Given the description of an element on the screen output the (x, y) to click on. 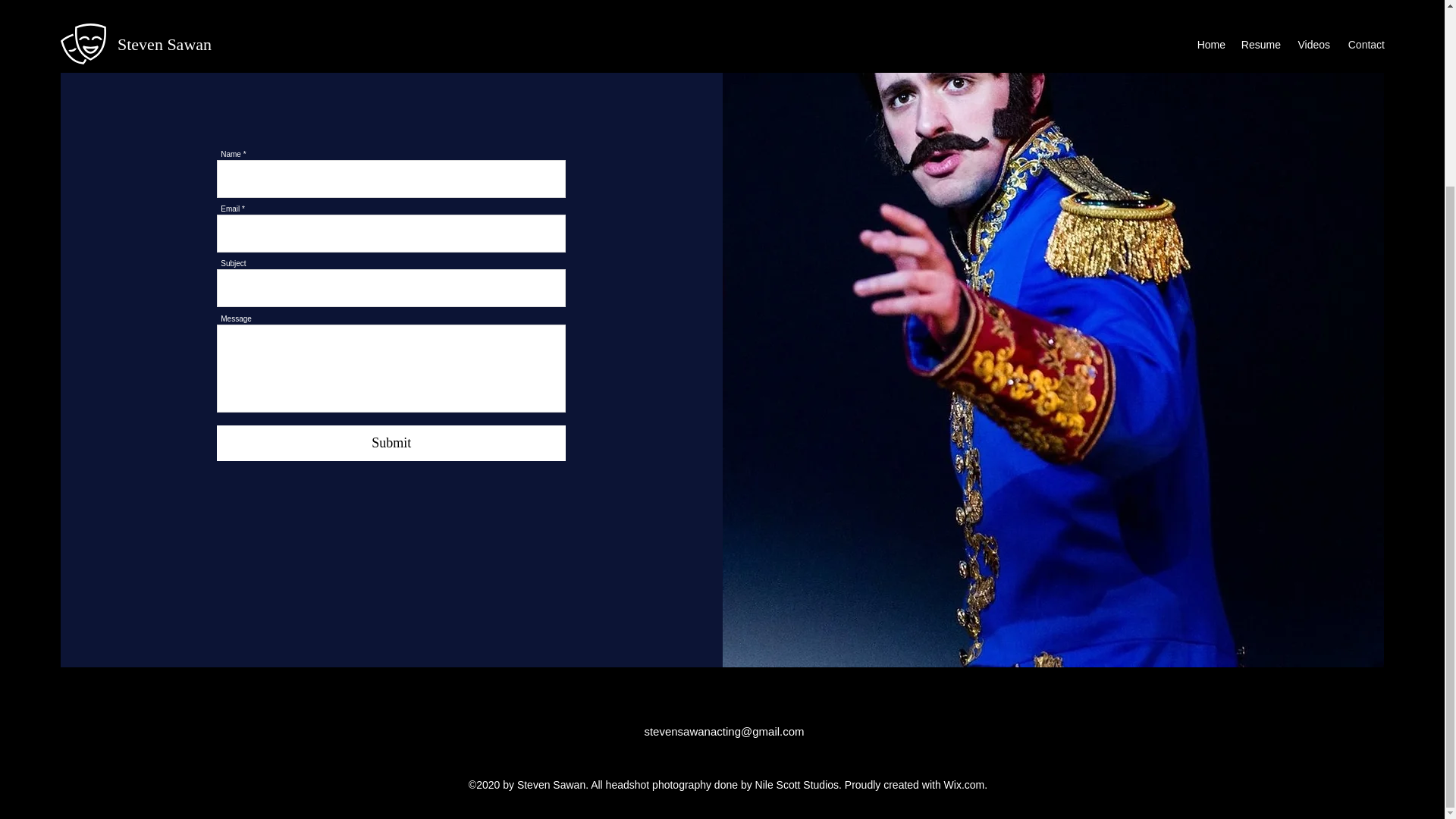
Submit (391, 443)
